Given the description of an element on the screen output the (x, y) to click on. 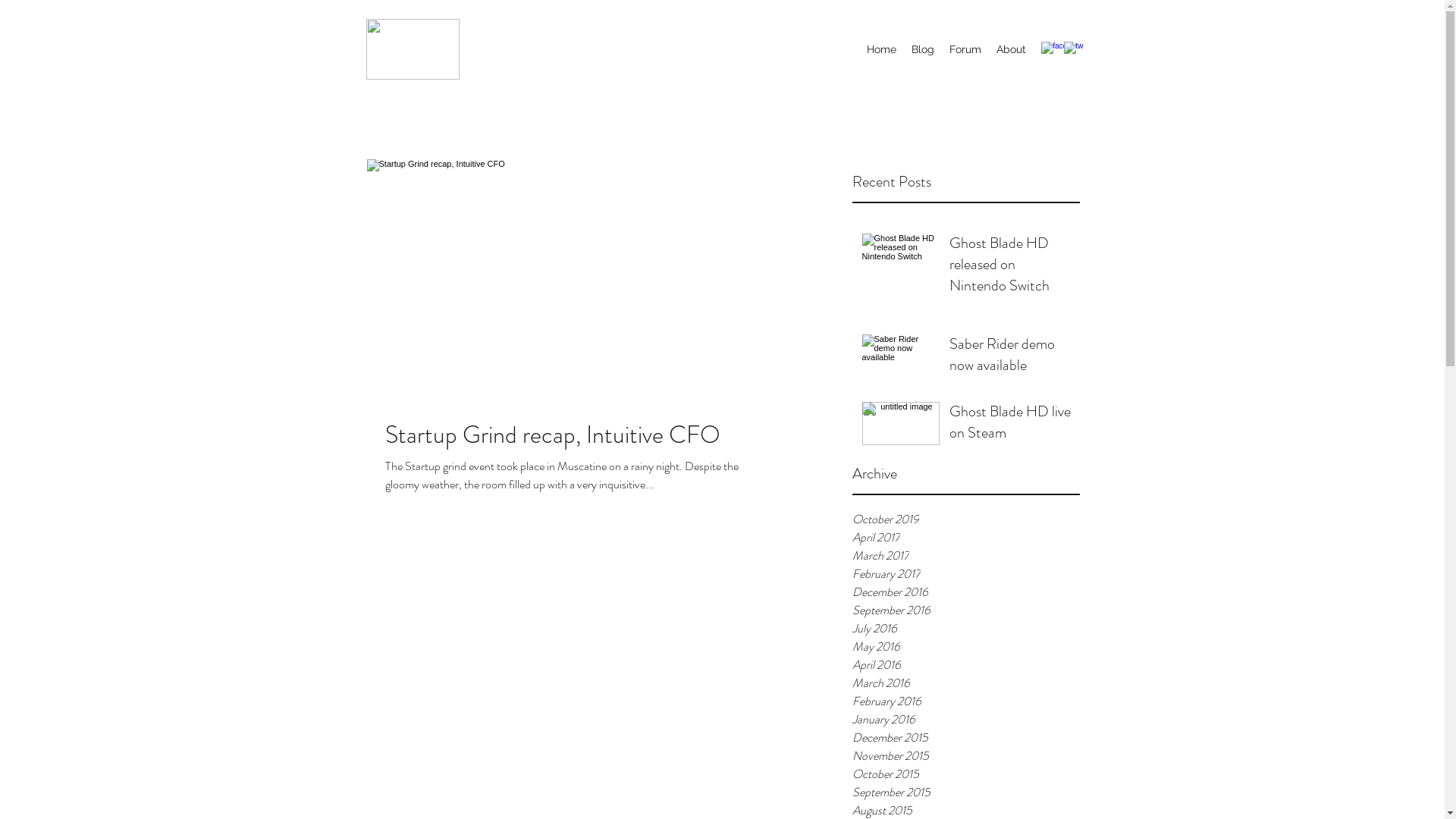
March 2017 Element type: text (965, 555)
October 2015 Element type: text (965, 774)
Startup Grind recap, Intuitive CFO Element type: text (579, 434)
December 2016 Element type: text (965, 592)
February 2016 Element type: text (965, 701)
May 2016 Element type: text (965, 646)
December 2015 Element type: text (965, 737)
January 2016 Element type: text (965, 719)
March 2016 Element type: text (965, 683)
About Element type: text (1010, 48)
February 2017 Element type: text (965, 573)
July 2016 Element type: text (965, 628)
November 2015 Element type: text (965, 755)
Saber Rider demo now available Element type: text (1009, 357)
Blog Element type: text (922, 48)
September 2015 Element type: text (965, 792)
Ghost Blade HD released on Nintendo Switch Element type: text (1009, 267)
Forum Element type: text (964, 48)
Home Element type: text (880, 48)
April 2016 Element type: text (965, 664)
April 2017 Element type: text (965, 537)
September 2016 Element type: text (965, 610)
October 2019 Element type: text (965, 519)
Ghost Blade HD live on Steam Element type: text (1009, 425)
